Given the description of an element on the screen output the (x, y) to click on. 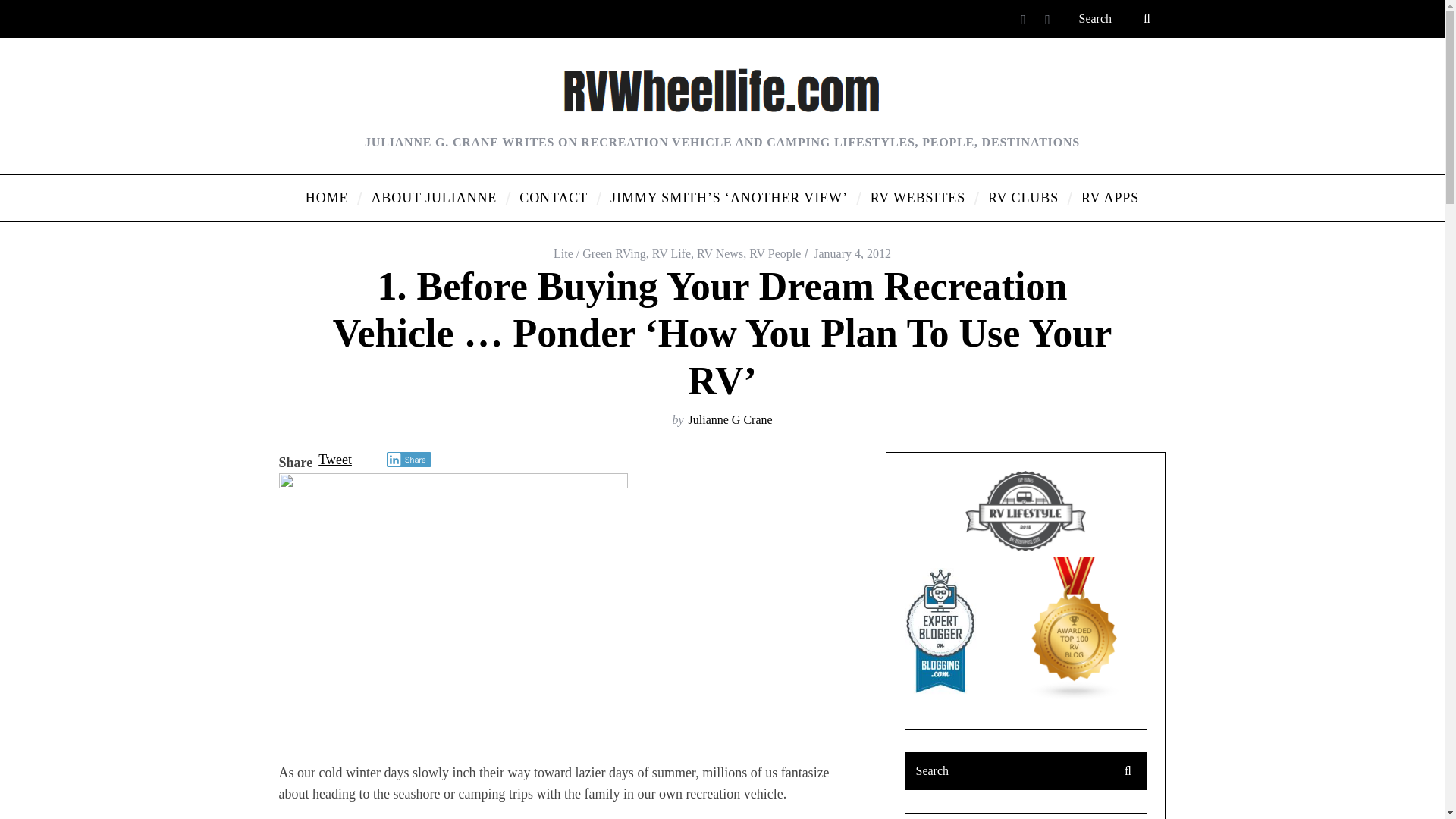
RV News (719, 253)
Julianne G Crane (730, 419)
RV Life (671, 253)
Search (1025, 771)
RV CLUBS (1023, 197)
RV APPS (1110, 197)
HOME (326, 197)
ABOUT JULIANNE (433, 197)
Share (408, 459)
RV WEBSITES (917, 197)
Tweet (335, 459)
RV People (774, 253)
Search (1116, 18)
CONTACT (553, 197)
